Given the description of an element on the screen output the (x, y) to click on. 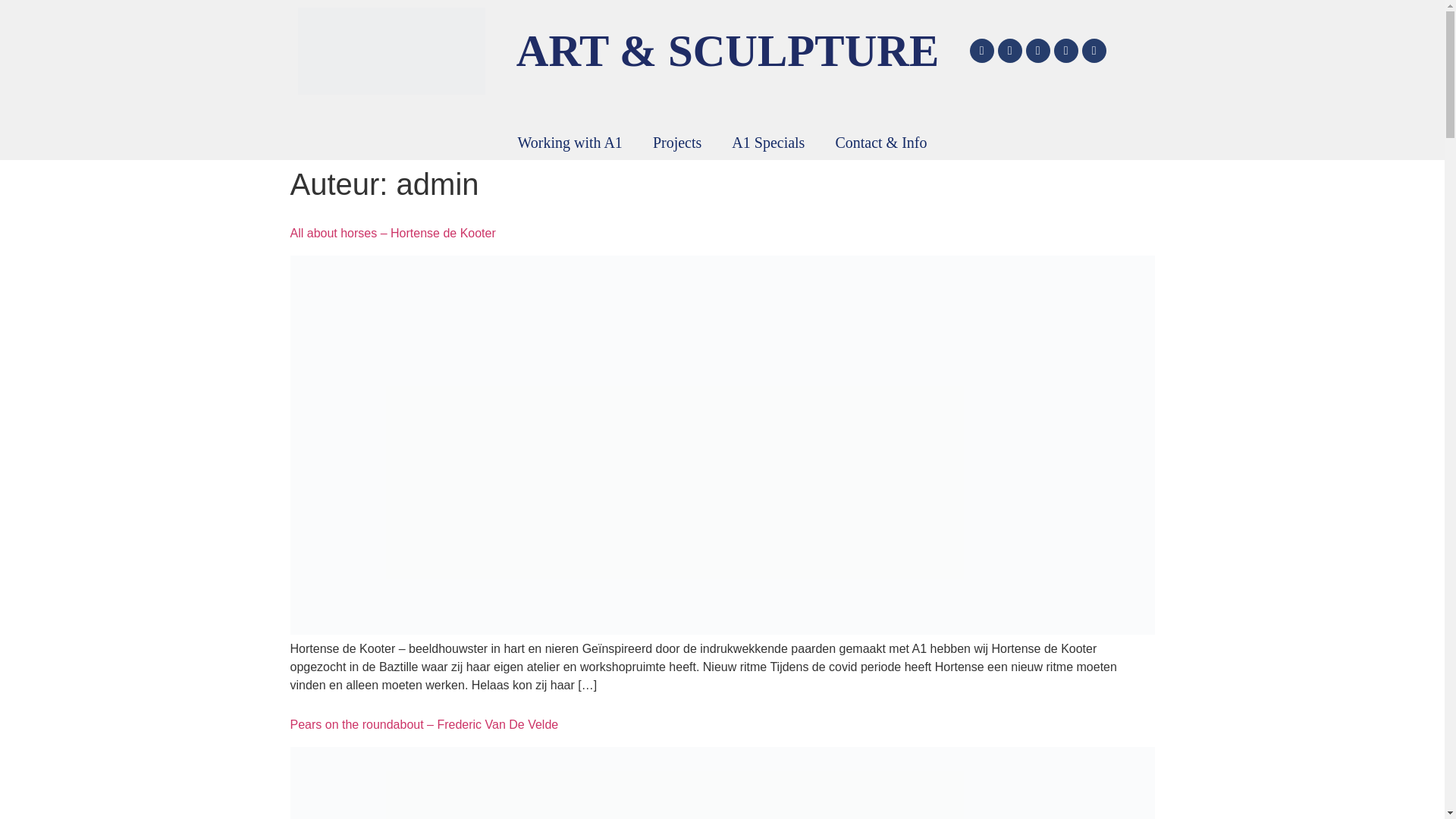
Working with A1 (569, 142)
Projects (676, 142)
A1 Specials (767, 142)
